Given the description of an element on the screen output the (x, y) to click on. 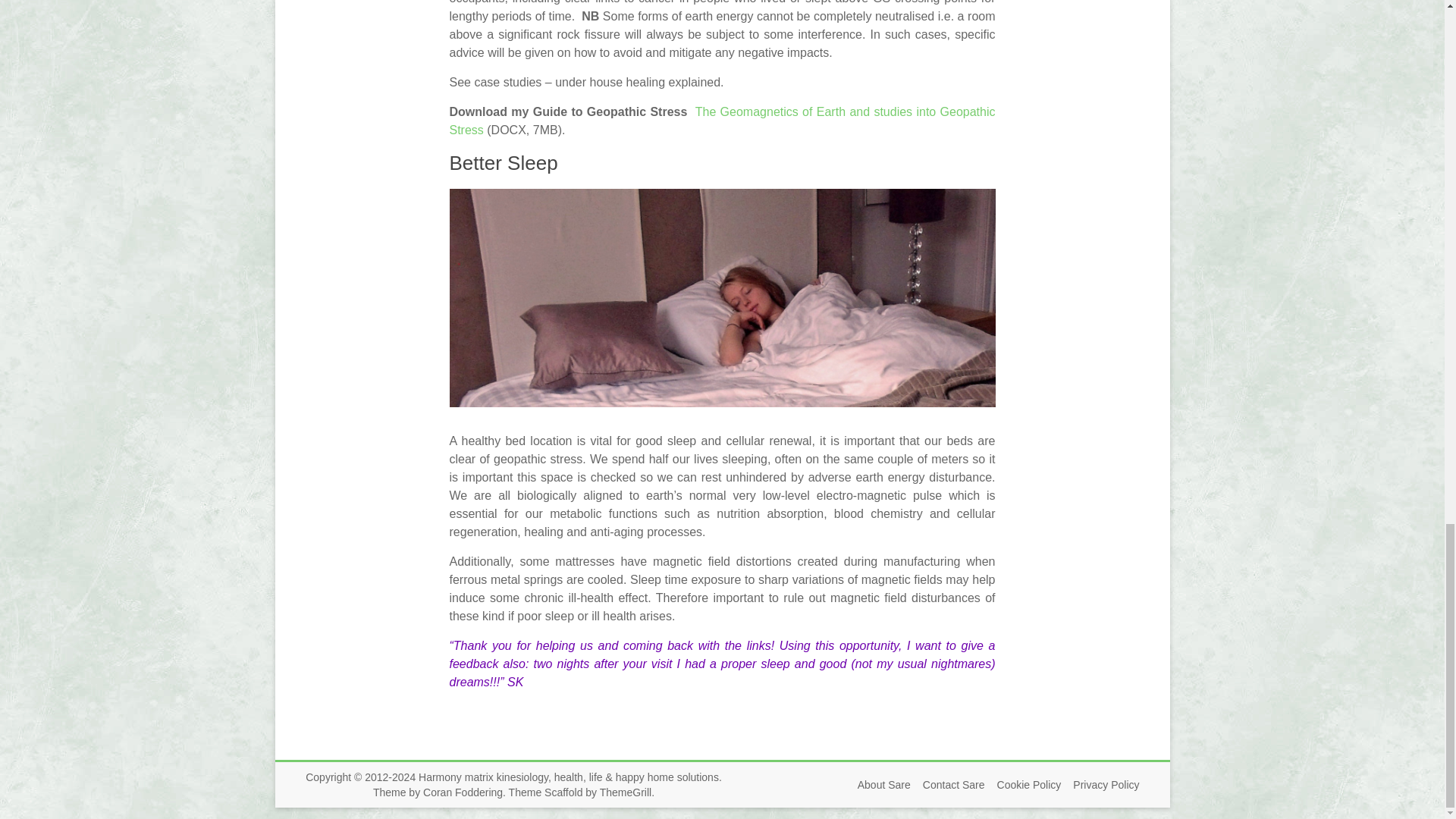
Contact Sare (948, 785)
ThemeGrill (624, 792)
Coran Foddering (462, 792)
Cookie Policy (1023, 785)
About Sare (878, 785)
ThemeGrill (624, 792)
The Geomagnetics of Earth and studies into Geopathic Stress (721, 120)
Privacy Policy (1099, 785)
Coran Foddering (462, 792)
